Given the description of an element on the screen output the (x, y) to click on. 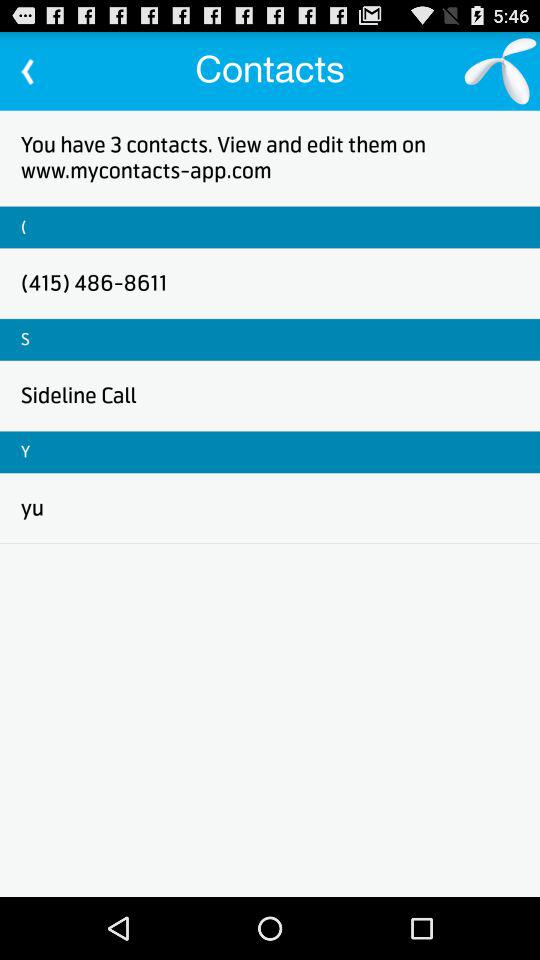
scroll to the ( (23, 226)
